Given the description of an element on the screen output the (x, y) to click on. 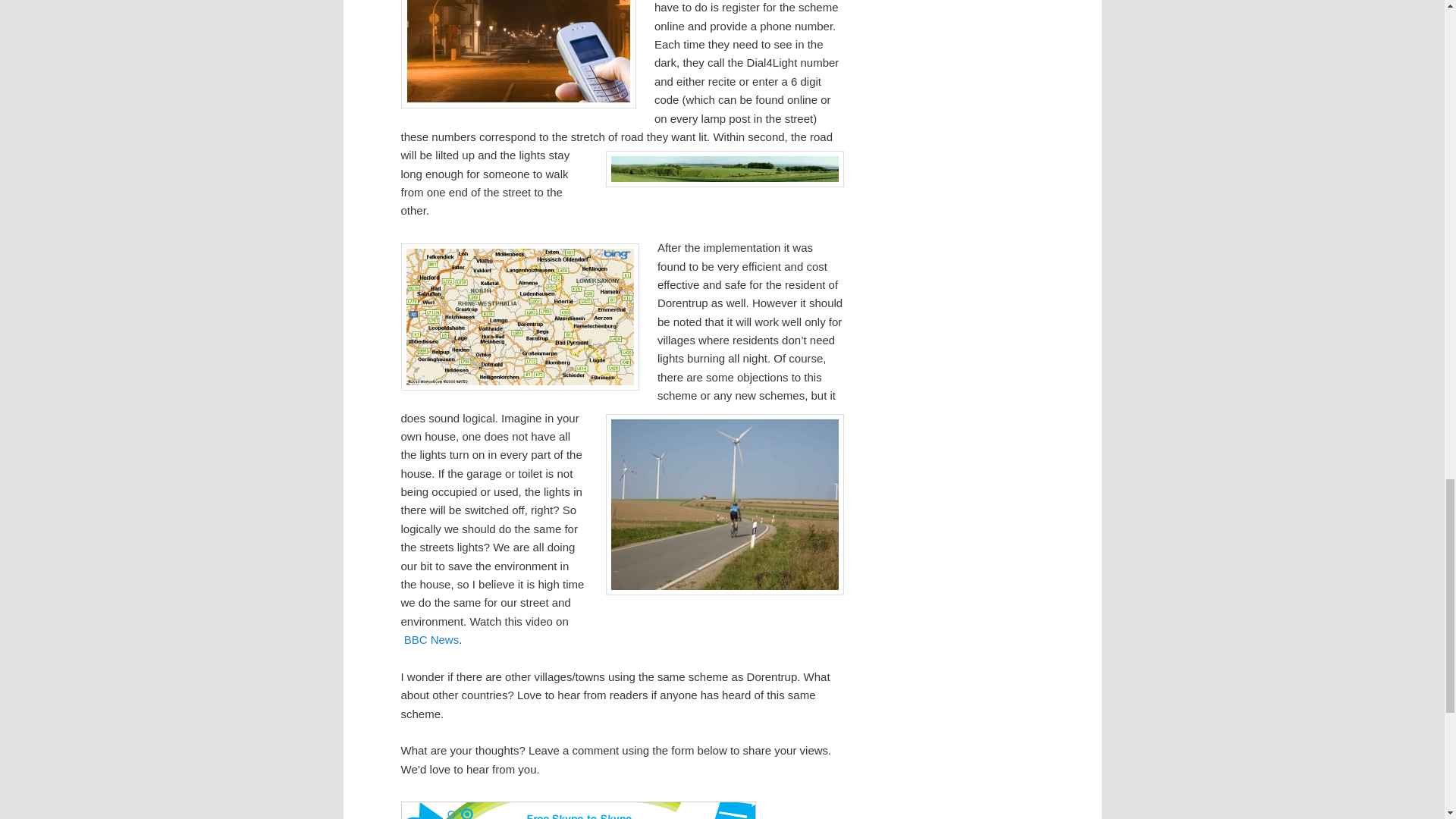
Duntrope map (519, 316)
BBC News (432, 639)
duntrope scenery2 (724, 168)
duntrope scenery 3 (724, 504)
